Given the description of an element on the screen output the (x, y) to click on. 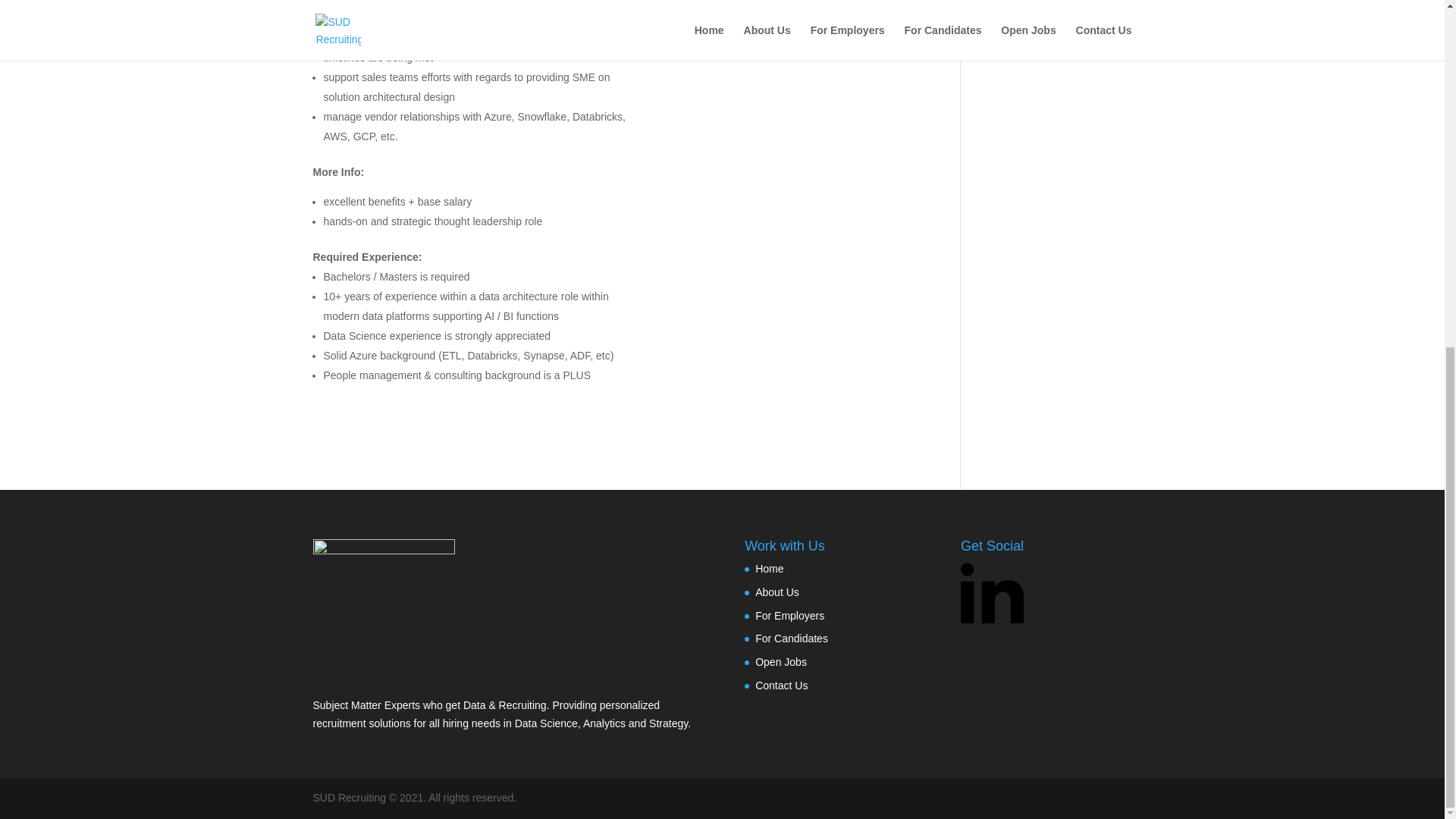
About Us (777, 592)
For Employers (789, 615)
For Candidates (791, 638)
Home (769, 568)
Open Jobs (780, 662)
Contact Us (781, 685)
